Given the description of an element on the screen output the (x, y) to click on. 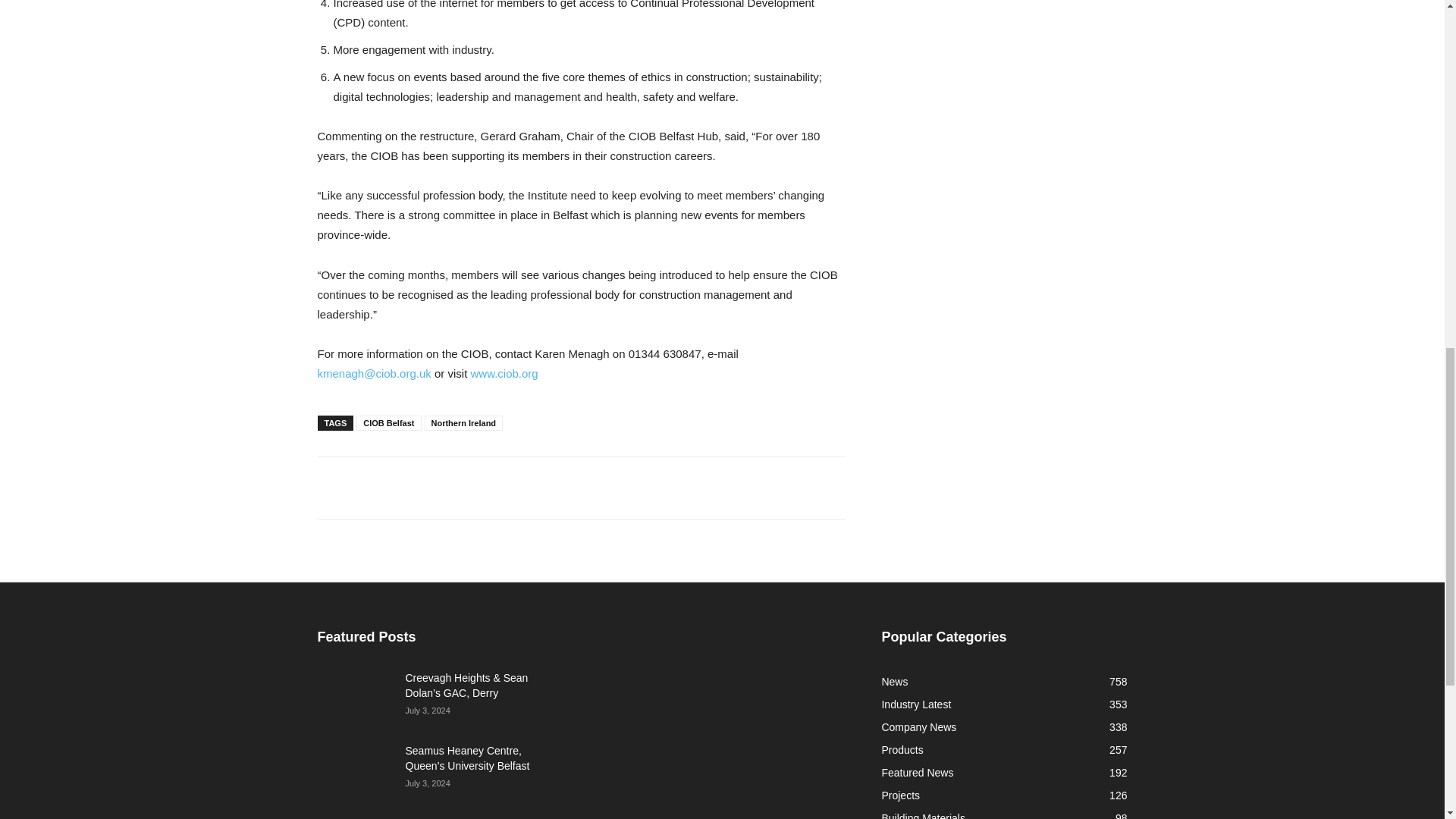
The Peninsula Care Home, Newtownards (355, 817)
